Given the description of an element on the screen output the (x, y) to click on. 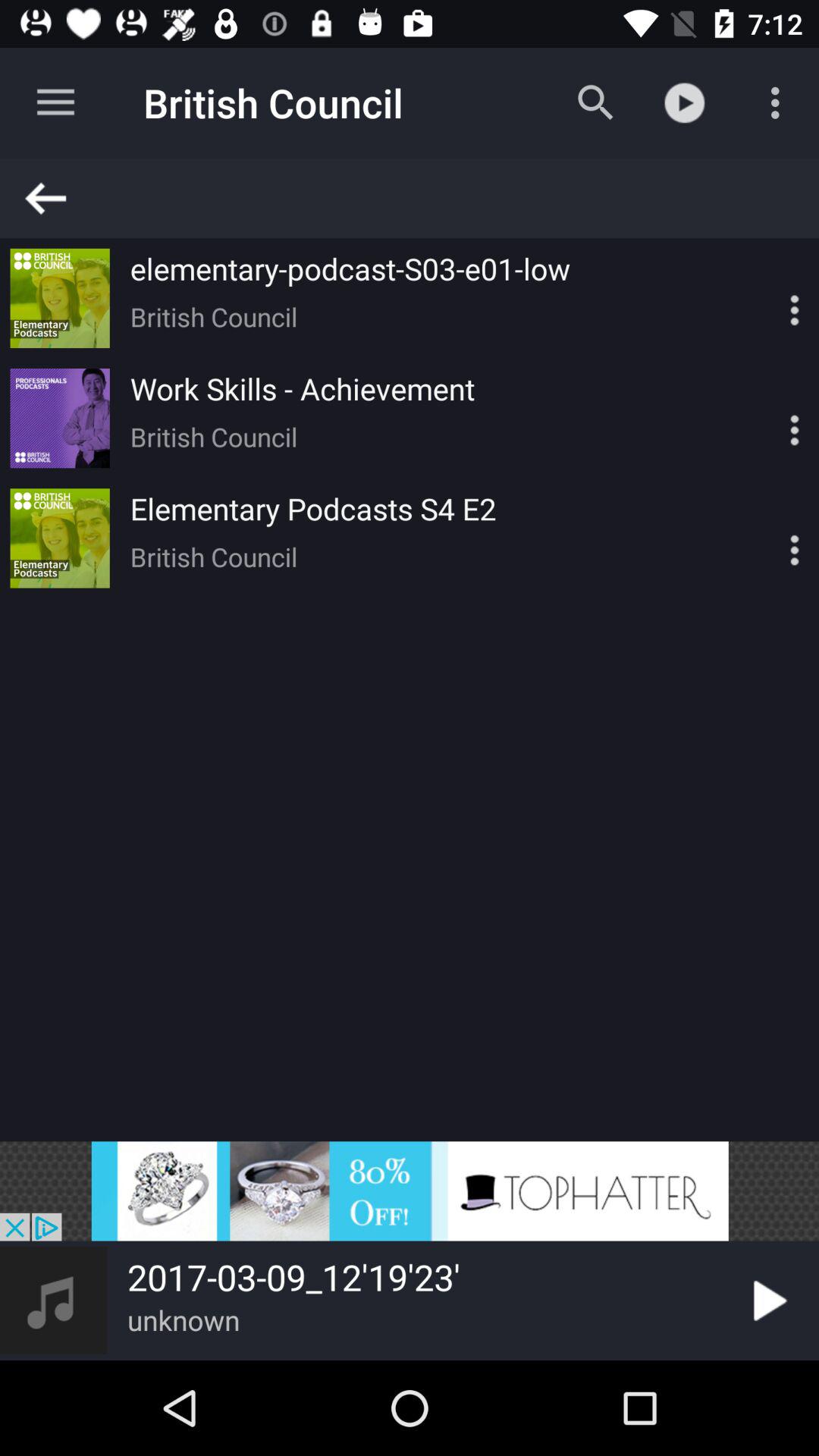
three dots (768, 298)
